Given the description of an element on the screen output the (x, y) to click on. 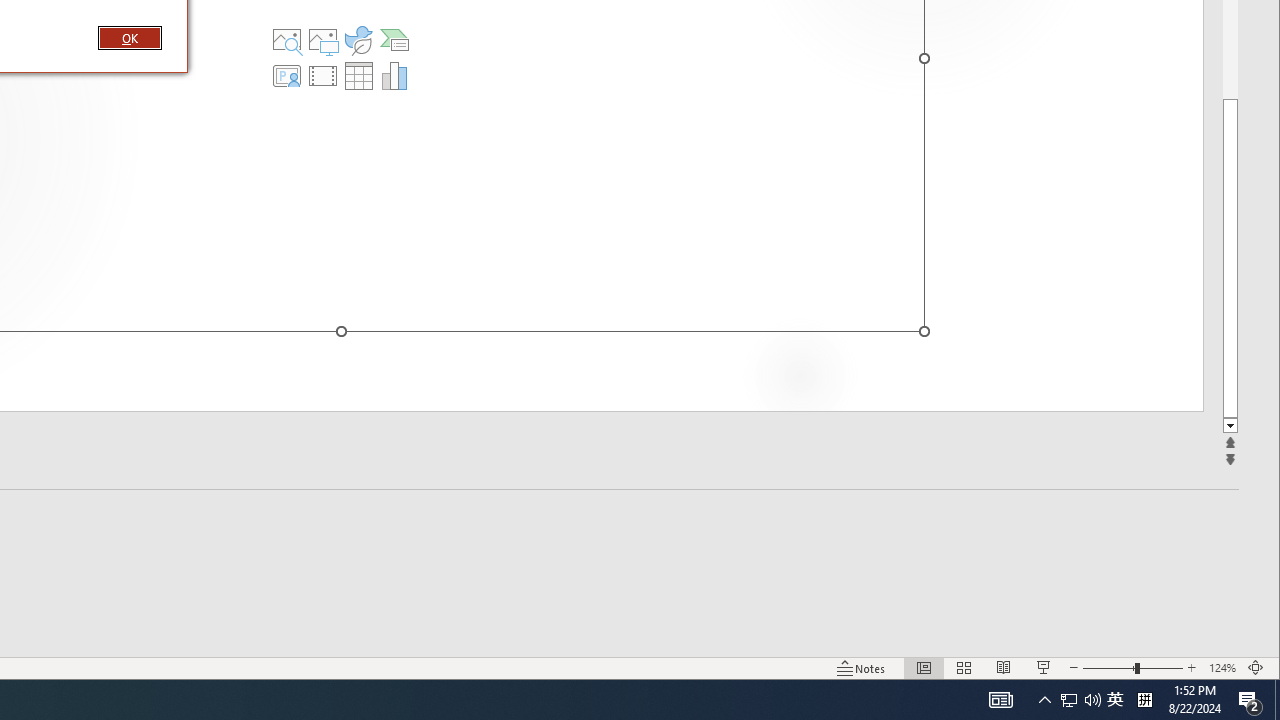
Pictures (323, 39)
AutomationID: 4105 (1000, 699)
Insert a SmartArt Graphic (394, 39)
Show desktop (1277, 699)
Insert Table (359, 75)
Q2790: 100% (1092, 699)
Zoom 124% (1115, 699)
Insert an Icon (1222, 668)
OK (359, 39)
